Given the description of an element on the screen output the (x, y) to click on. 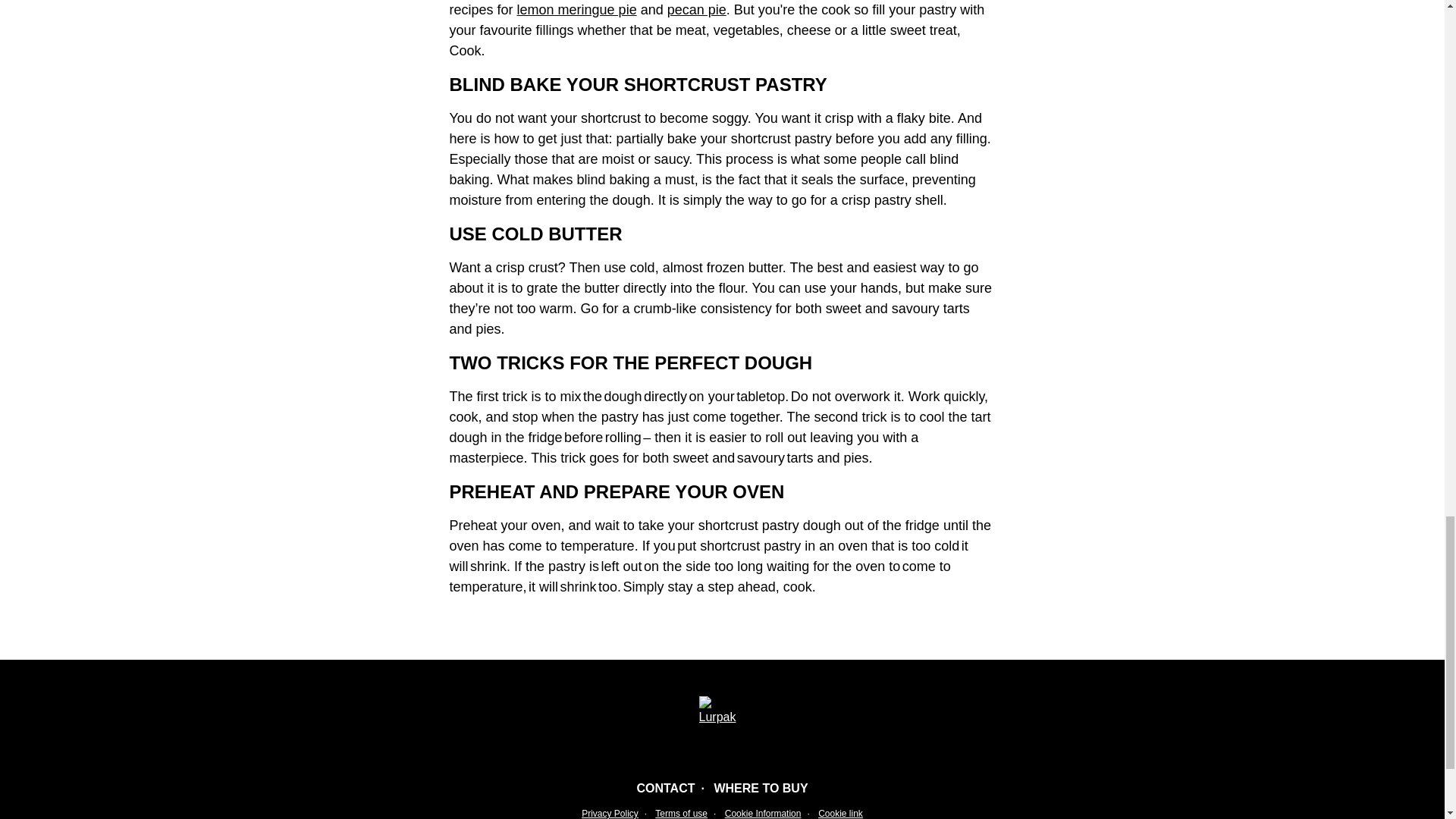
Cookie Information (763, 813)
Contact (665, 788)
Terms of use (681, 813)
Where to buy (760, 788)
Privacy Policy (609, 813)
